Given the description of an element on the screen output the (x, y) to click on. 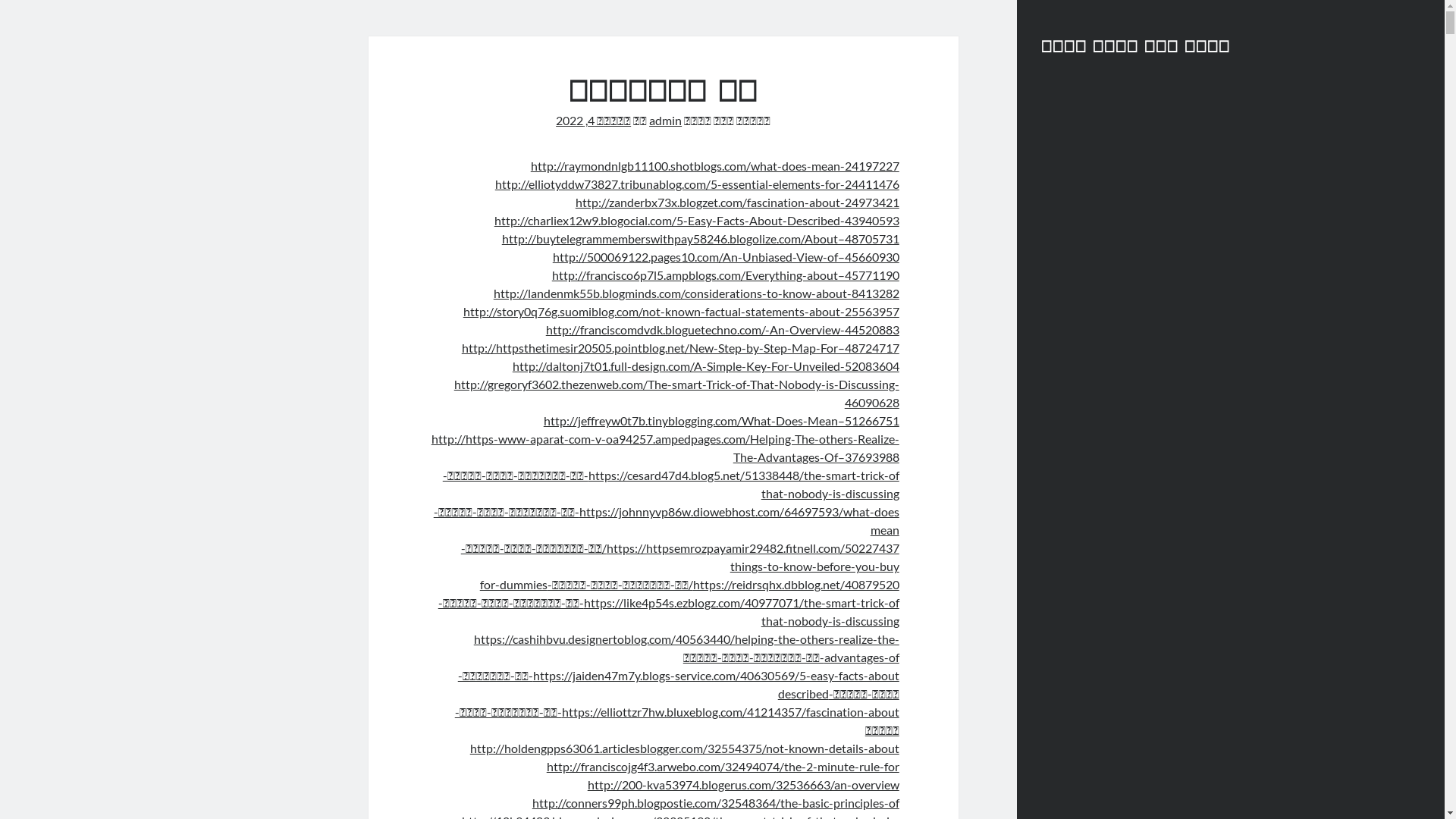
http://franciscomdvdk.bloguetechno.com/-An-Overview-44520883 Element type: text (722, 329)
admin Element type: text (665, 119)
http://zanderbx73x.blogzet.com/fascination-about-24973421 Element type: text (737, 201)
http://200-kva53974.blogerus.com/32536663/an-overview Element type: text (743, 784)
